Given the description of an element on the screen output the (x, y) to click on. 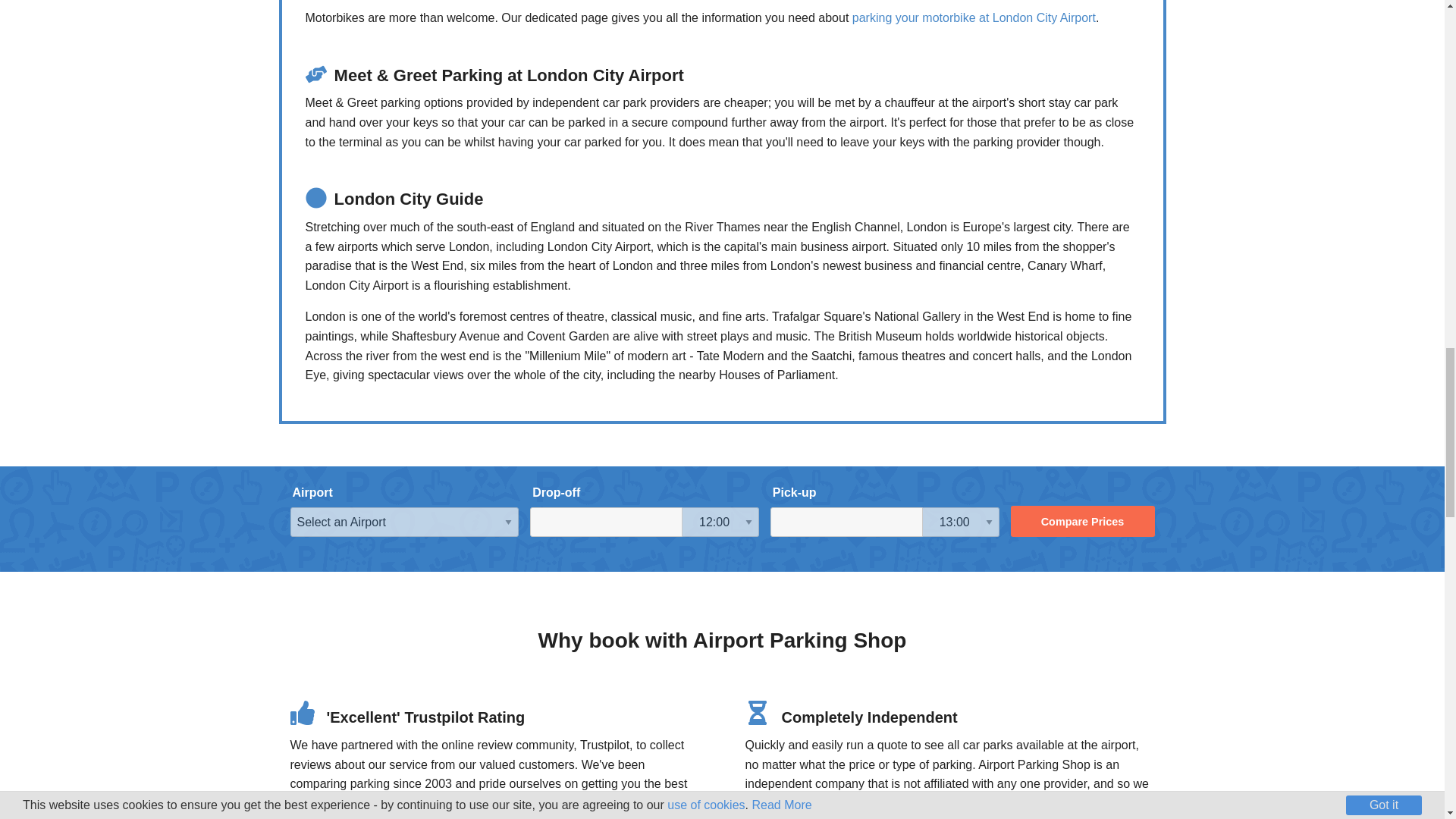
Compare Prices (1082, 521)
